Given the description of an element on the screen output the (x, y) to click on. 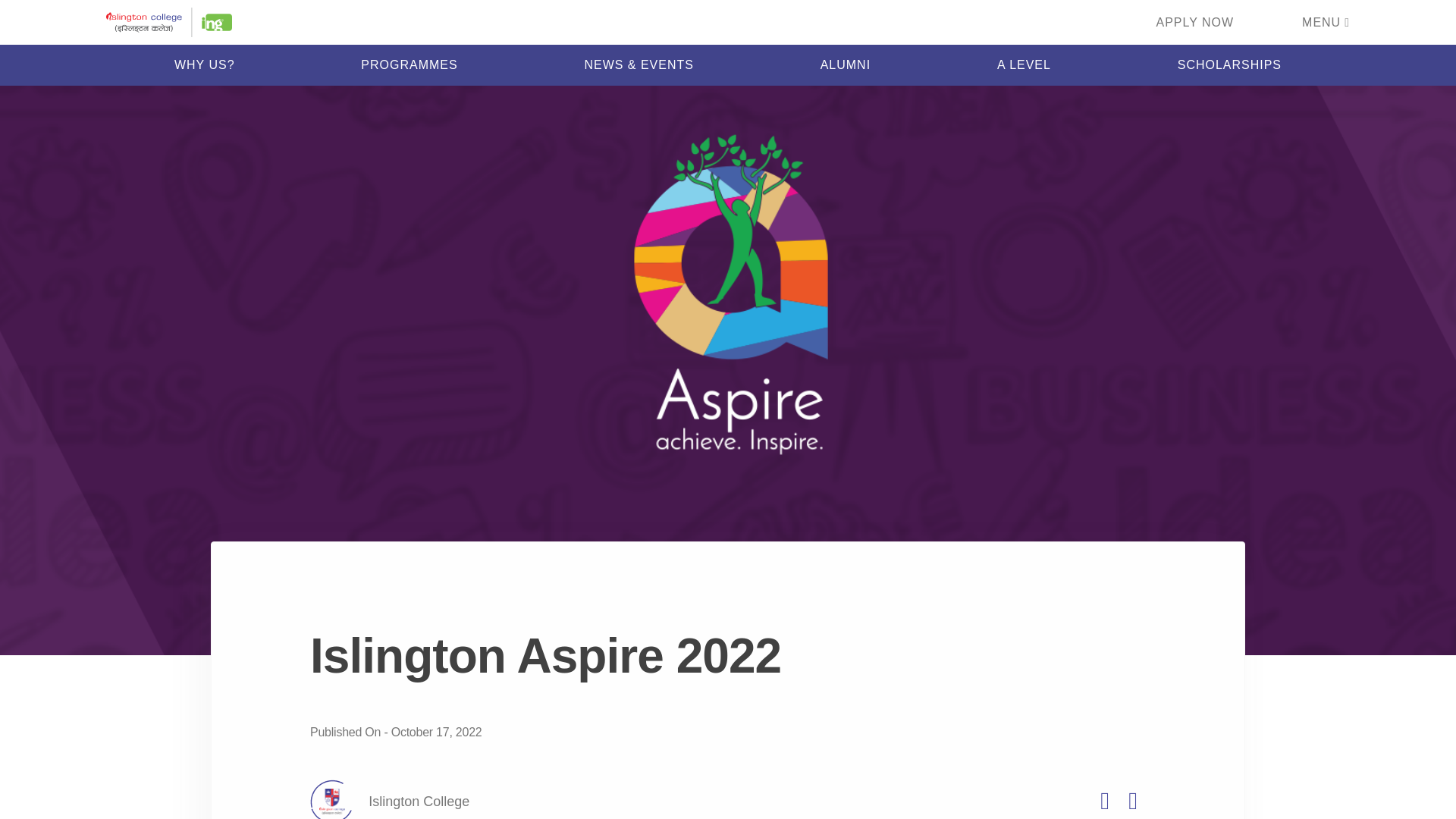
PROGRAMMES (409, 64)
APPLY NOW (1194, 21)
WHY US? (204, 64)
MENU (1325, 21)
A LEVEL (1024, 64)
SCHOLARSHIPS (1229, 64)
ALUMNI (845, 64)
